Given the description of an element on the screen output the (x, y) to click on. 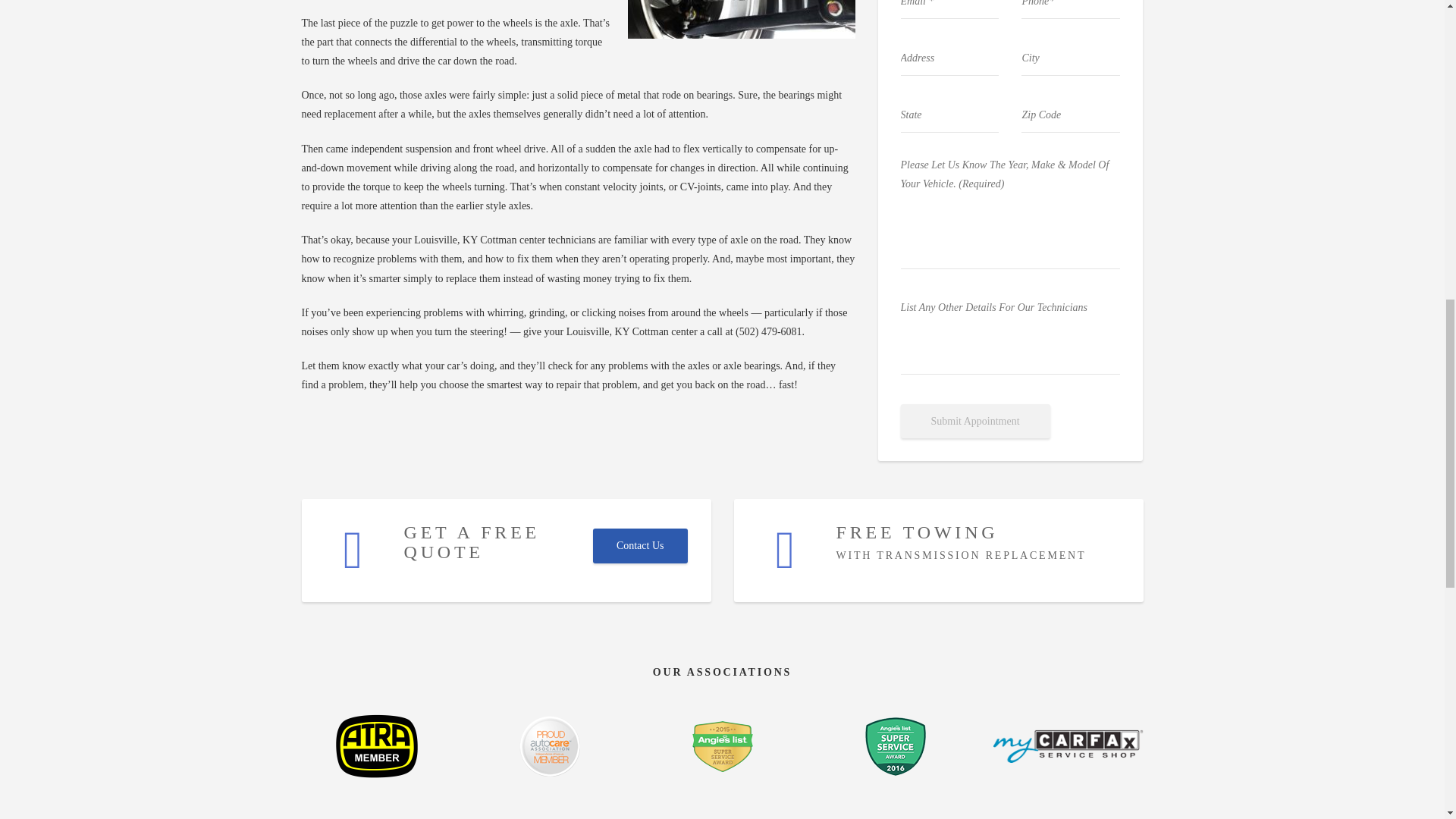
my-carfax (1067, 745)
ATRA-logo (376, 745)
autocare-association-member (548, 745)
angies-list-super-service-award-2016 (894, 746)
angies-list-super-service-award-2015 (721, 746)
Submit Appointment (975, 421)
